Given the description of an element on the screen output the (x, y) to click on. 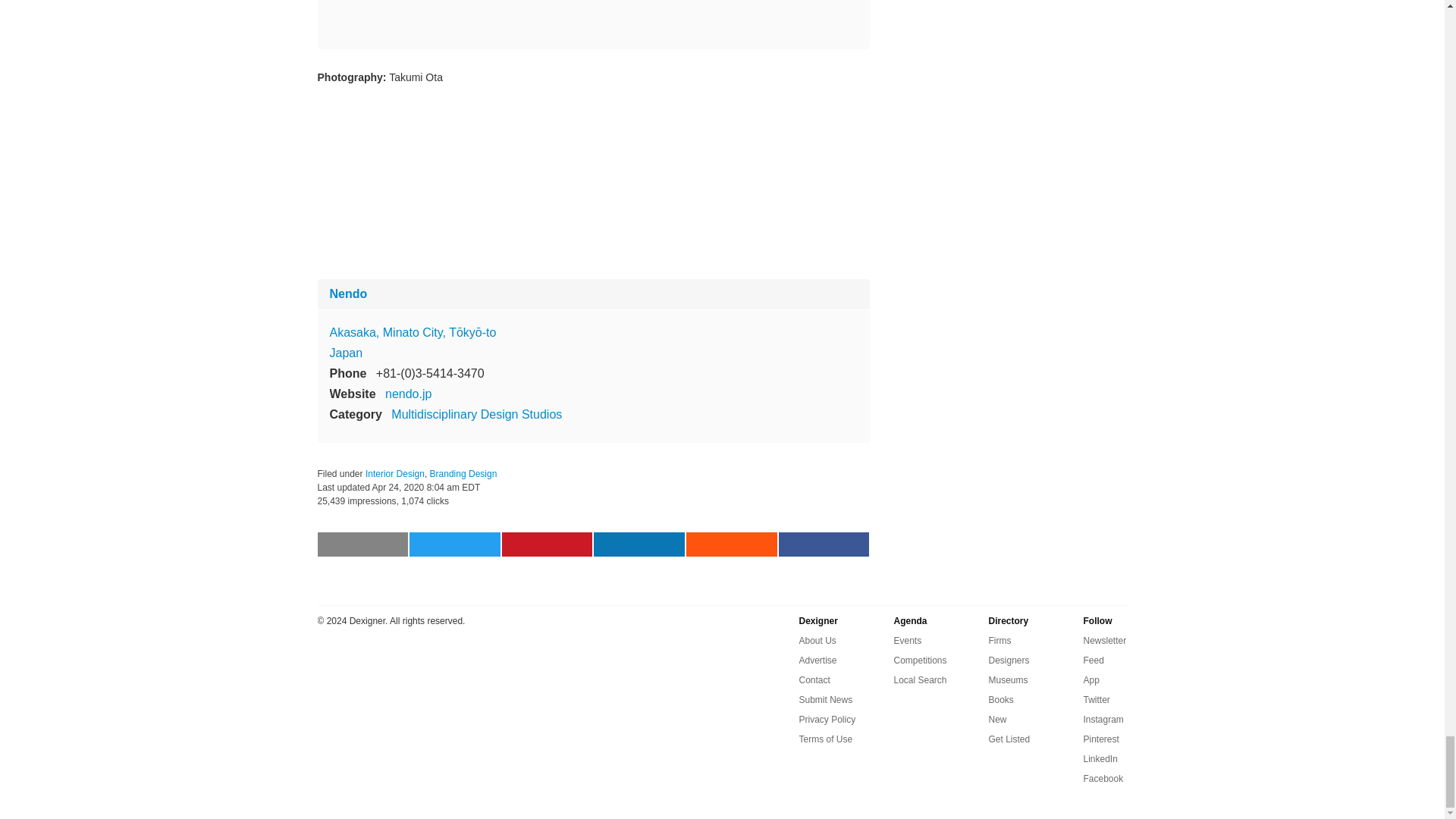
Interior Design (395, 473)
About Us (817, 640)
Get Listed (1009, 739)
Competitions (919, 660)
Events (907, 640)
Japan (345, 352)
New (997, 719)
nendo.jp (407, 393)
Newsletter (1104, 640)
Nendo (347, 293)
Designers (1008, 660)
Privacy Policy (827, 719)
Terms of Use (826, 739)
Books (1000, 700)
Advertise (818, 660)
